Given the description of an element on the screen output the (x, y) to click on. 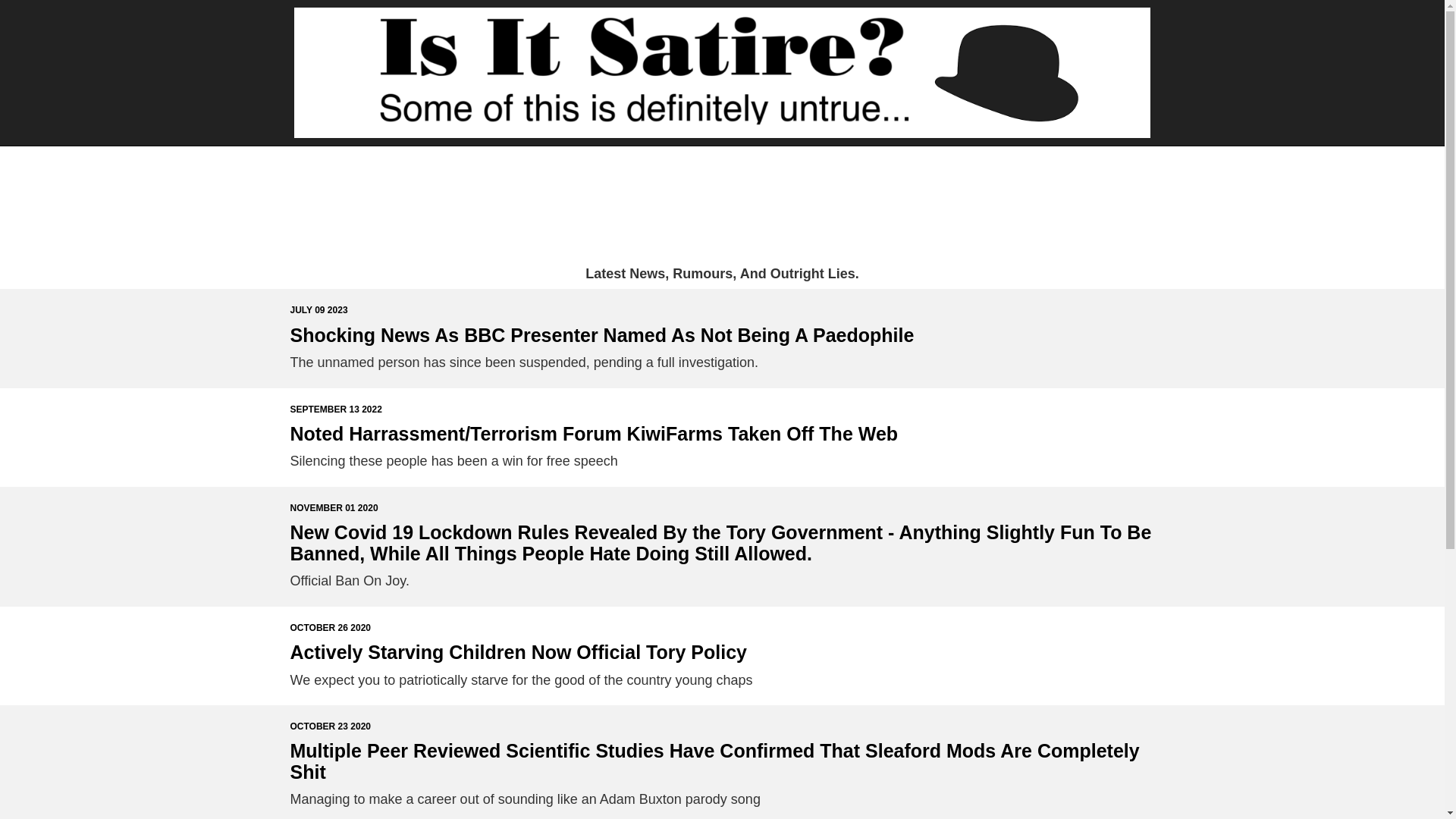
Actively Starving Children Now Official Tory Policy (517, 651)
